Given the description of an element on the screen output the (x, y) to click on. 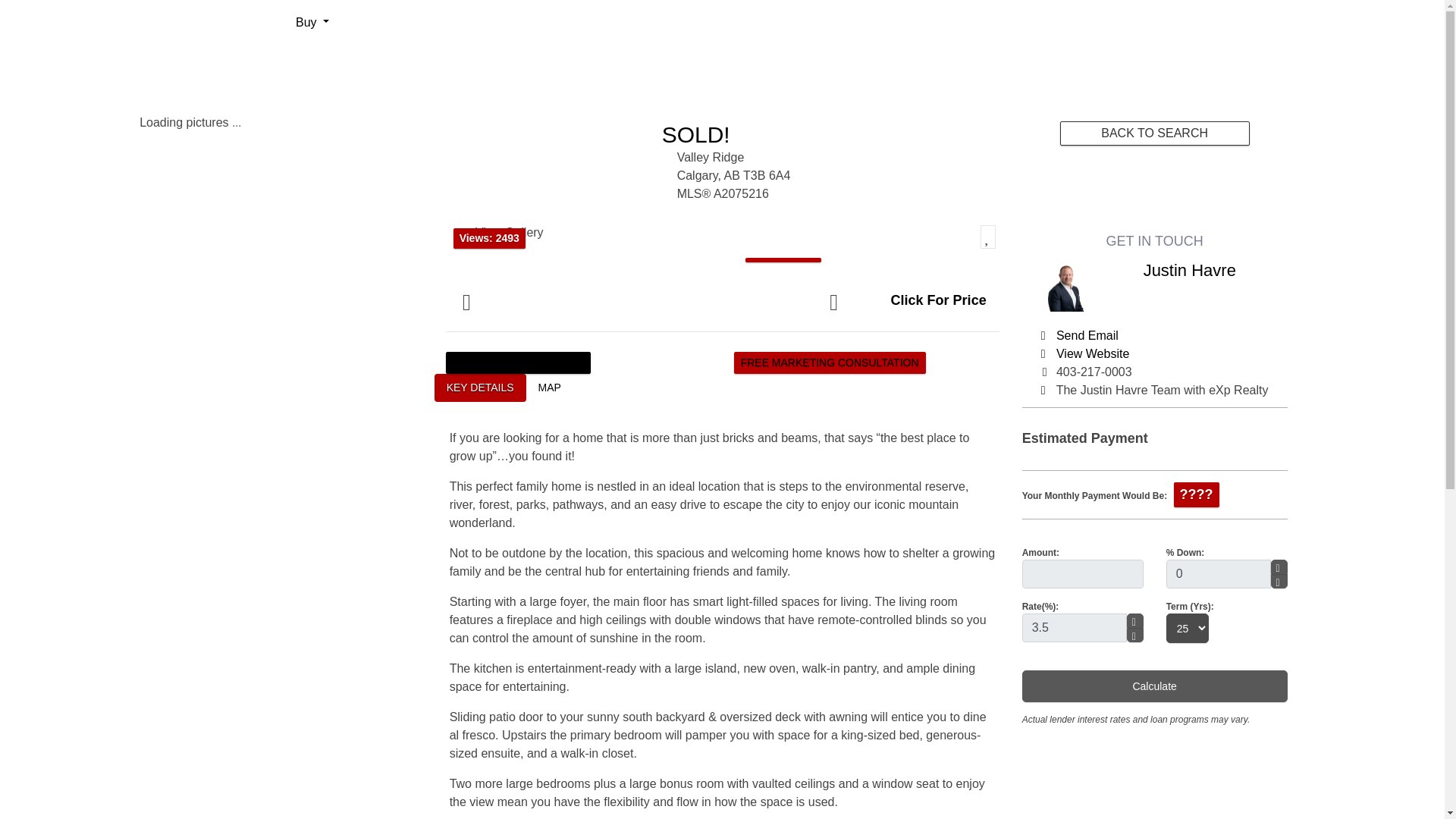
Account (1398, 22)
BACK TO SEARCH (1154, 132)
Buy (311, 22)
Real Estate Agents (444, 22)
Contact Us (543, 22)
Sell (357, 22)
0 (1218, 573)
SOLD! (696, 134)
3.5 (1074, 627)
